Given the description of an element on the screen output the (x, y) to click on. 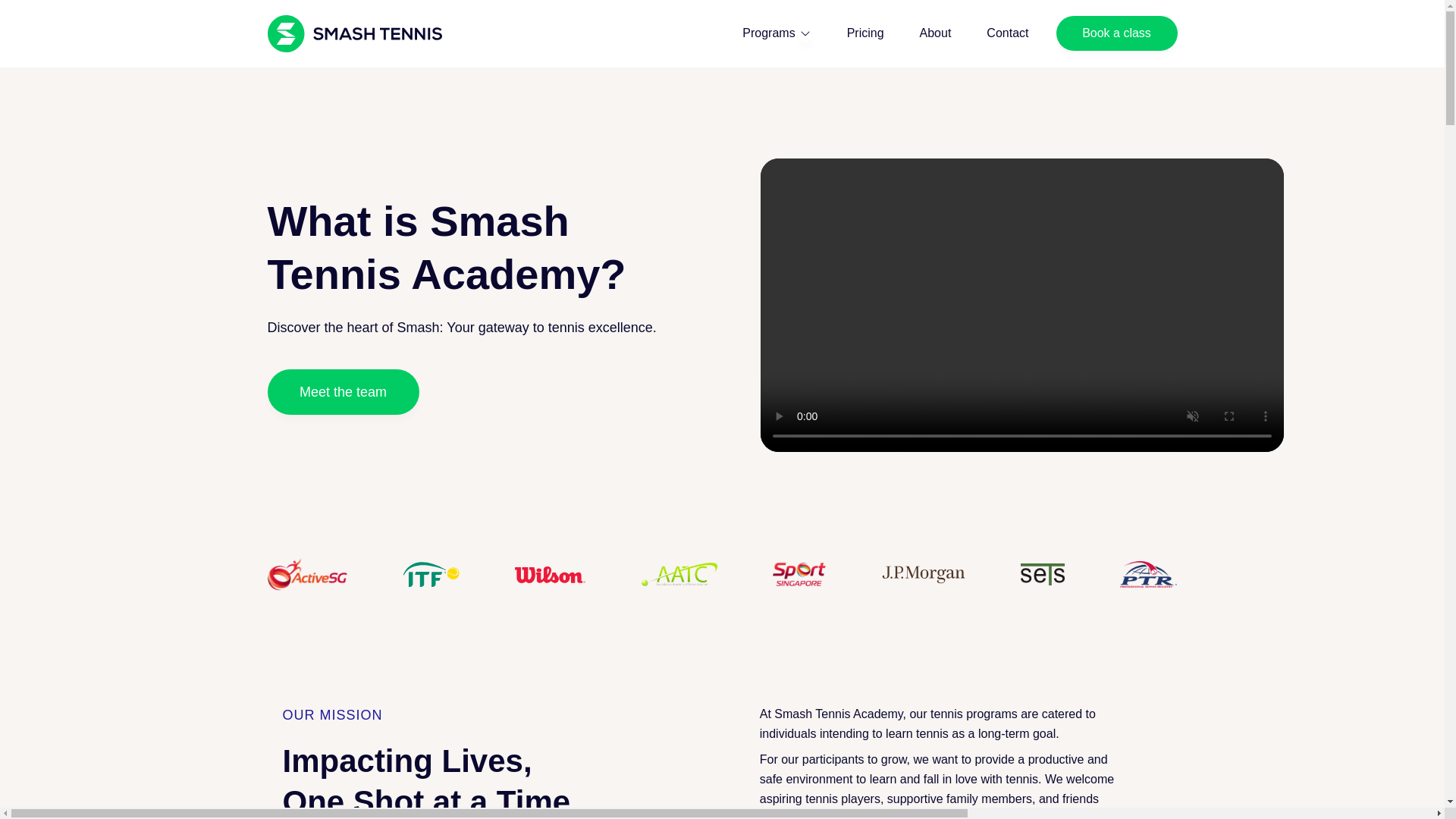
Meet the team (342, 391)
About (936, 33)
Contact (1007, 33)
Book a class (1115, 32)
Pricing (865, 33)
